Given the description of an element on the screen output the (x, y) to click on. 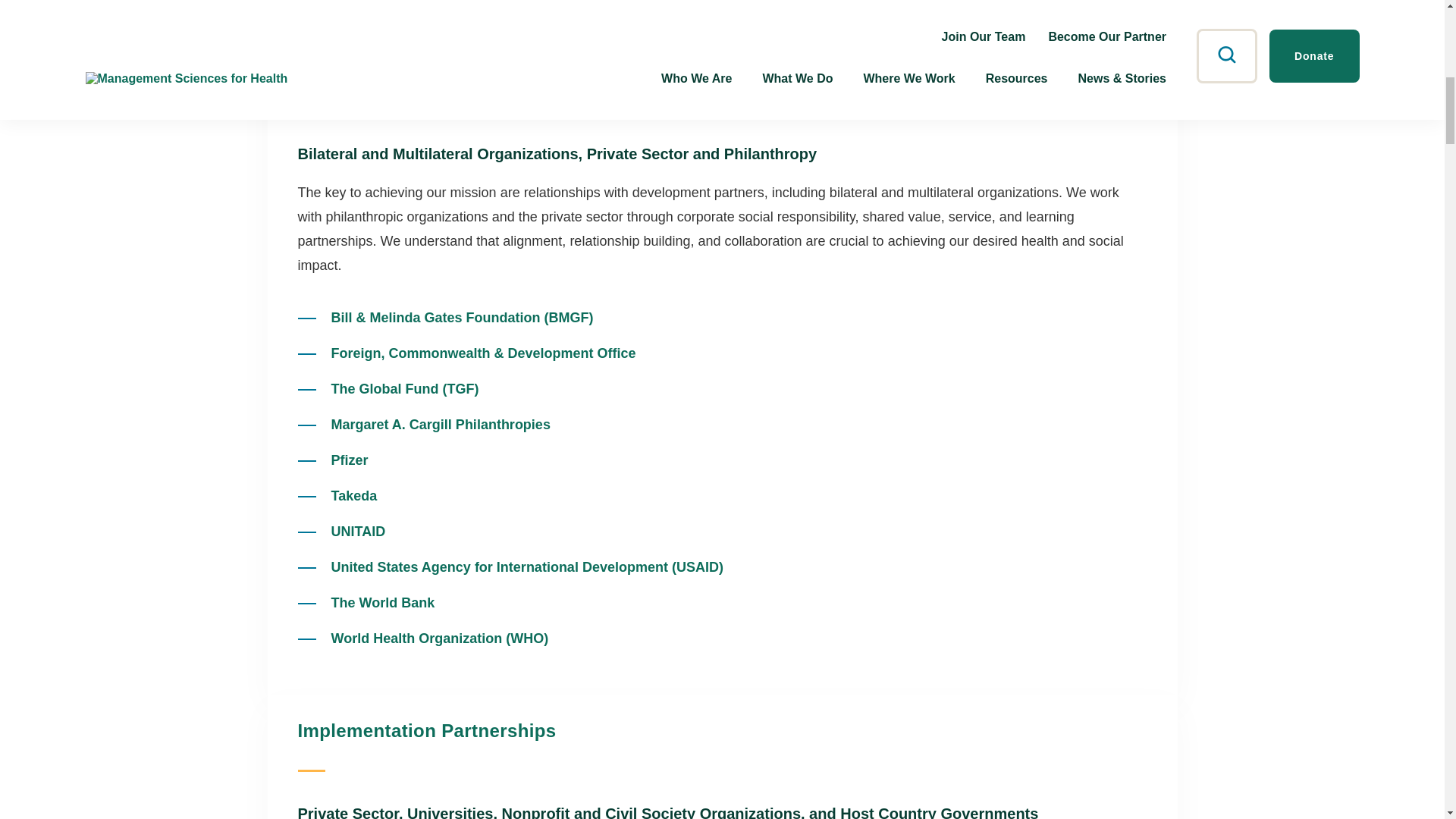
Margaret A. Cargill Philanthropies (440, 424)
UNITAID (357, 531)
Takeda (353, 495)
The World Bank (381, 602)
Pfizer (349, 459)
